Given the description of an element on the screen output the (x, y) to click on. 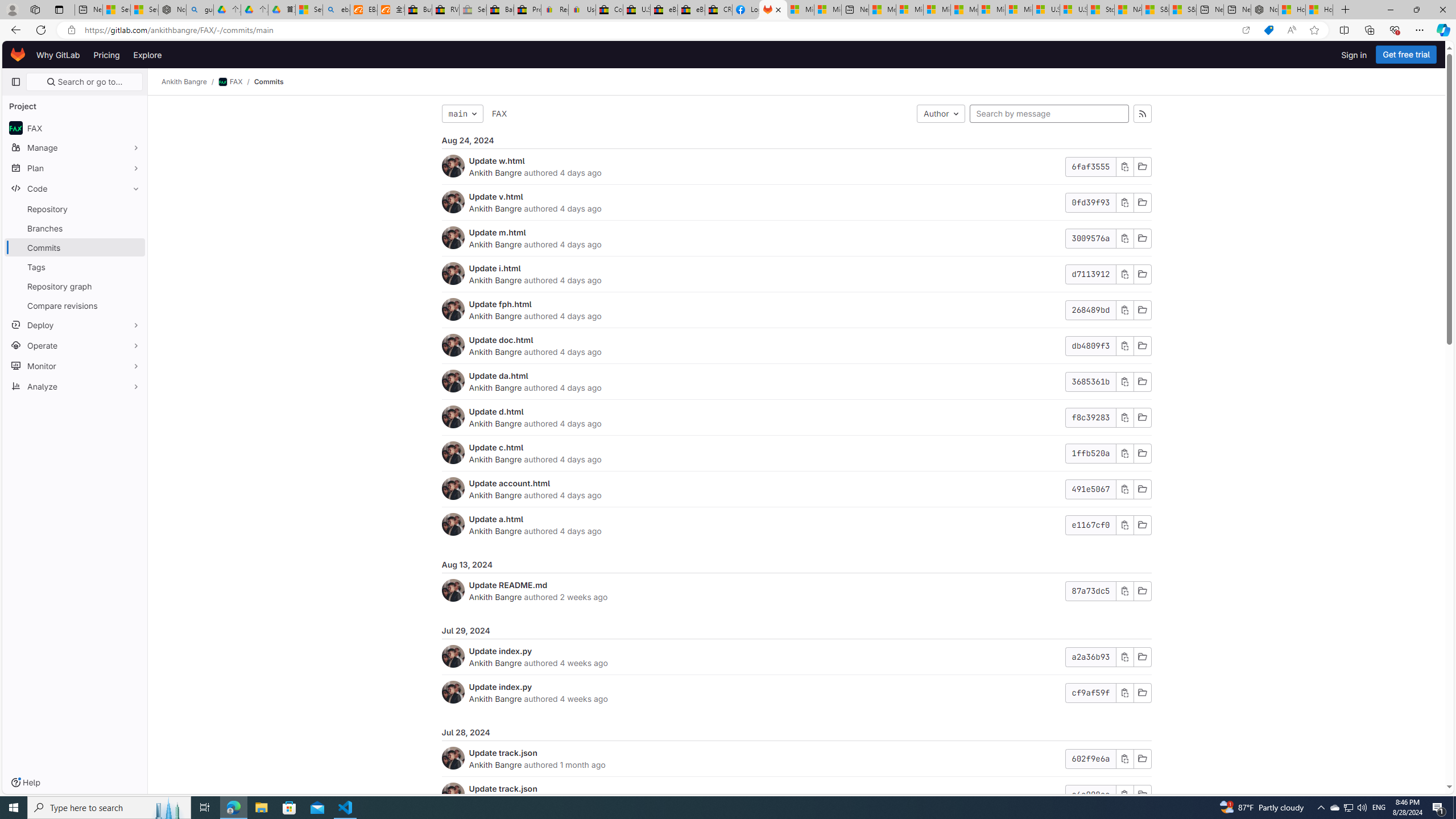
Update account.html (509, 483)
Repository (74, 208)
Update w.htmlAnkith Bangre authored 4 days ago6faf3555 (796, 167)
Update doc.html (500, 339)
Operate (74, 344)
main (462, 113)
eBay Inc. Reports Third Quarter 2023 Results (691, 9)
Compare revisions (74, 305)
